Given the description of an element on the screen output the (x, y) to click on. 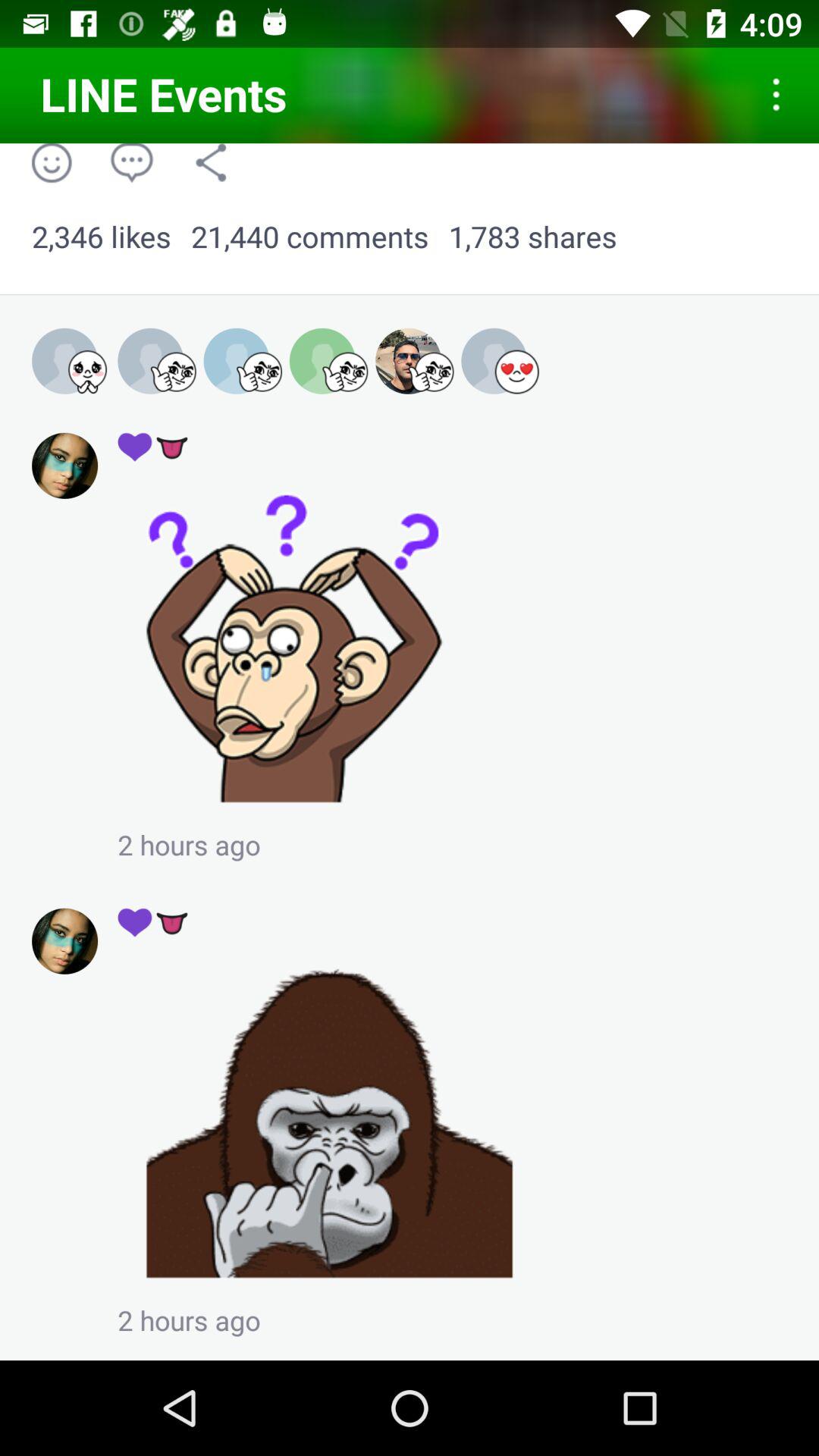
tap item to the left of 21,440 comments icon (101, 237)
